Given the description of an element on the screen output the (x, y) to click on. 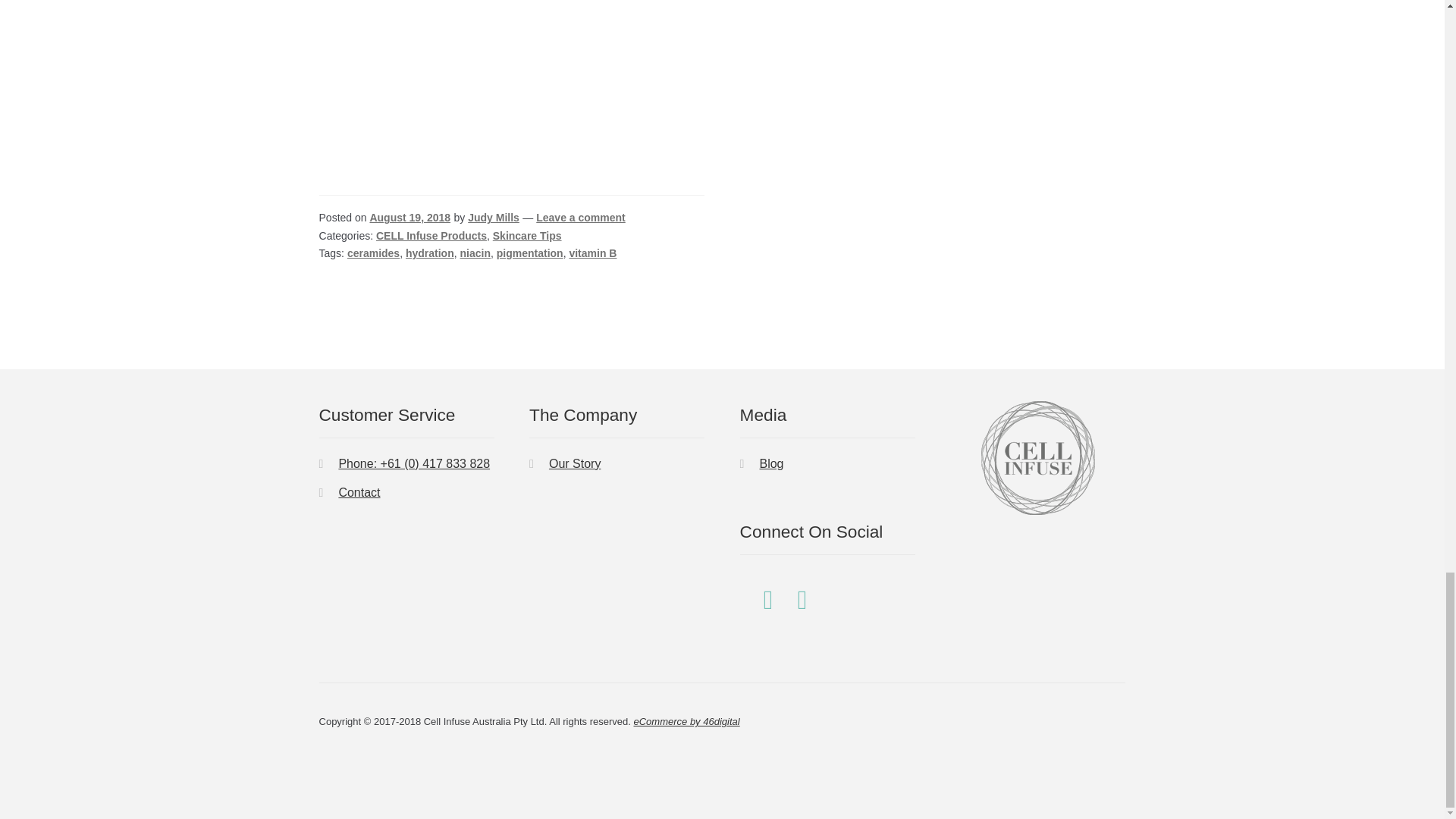
ceramides (372, 253)
vitamin B (592, 253)
niacin (474, 253)
eCommerce by 46digital (686, 721)
Our Story (573, 463)
Blog (770, 463)
Leave a comment (580, 217)
August 19, 2018 (409, 217)
Judy Mills (493, 217)
hydration (430, 253)
pigmentation (529, 253)
eCommerce website by 46digital (686, 721)
Contact (358, 492)
Skincare Tips (527, 235)
CELL Infuse Products (430, 235)
